Given the description of an element on the screen output the (x, y) to click on. 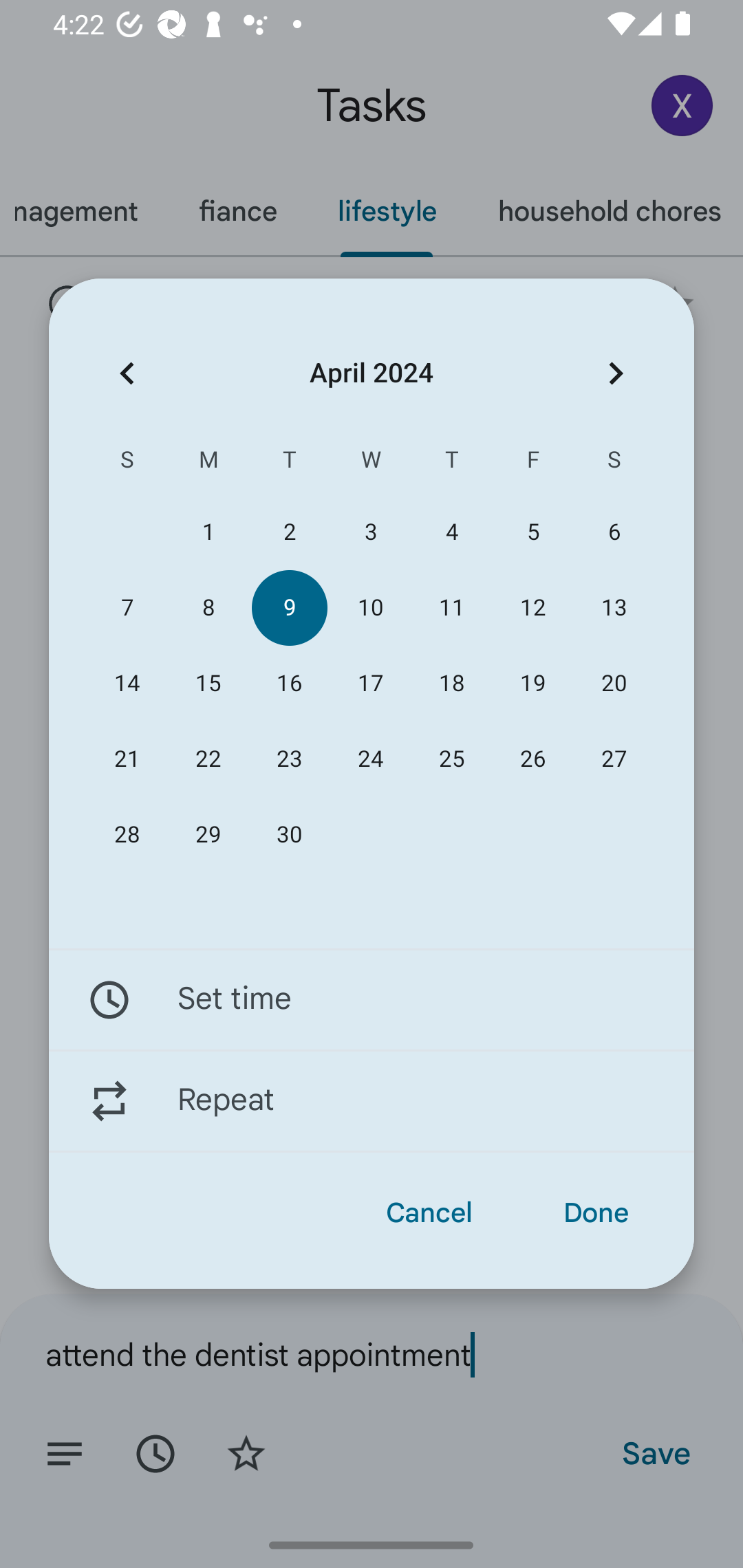
Previous month (126, 372)
Next month (615, 372)
1 01 April 2024 (207, 531)
2 02 April 2024 (288, 531)
3 03 April 2024 (370, 531)
4 04 April 2024 (451, 531)
5 05 April 2024 (532, 531)
6 06 April 2024 (613, 531)
7 07 April 2024 (126, 608)
8 08 April 2024 (207, 608)
9 09 April 2024 (288, 608)
10 10 April 2024 (370, 608)
11 11 April 2024 (451, 608)
12 12 April 2024 (532, 608)
13 13 April 2024 (613, 608)
14 14 April 2024 (126, 683)
15 15 April 2024 (207, 683)
16 16 April 2024 (288, 683)
17 17 April 2024 (370, 683)
18 18 April 2024 (451, 683)
19 19 April 2024 (532, 683)
20 20 April 2024 (613, 683)
21 21 April 2024 (126, 758)
22 22 April 2024 (207, 758)
23 23 April 2024 (288, 758)
24 24 April 2024 (370, 758)
25 25 April 2024 (451, 758)
26 26 April 2024 (532, 758)
27 27 April 2024 (613, 758)
28 28 April 2024 (126, 834)
29 29 April 2024 (207, 834)
30 30 April 2024 (288, 834)
Set time (371, 999)
Repeat (371, 1101)
Cancel (429, 1213)
Done (595, 1213)
